Given the description of an element on the screen output the (x, y) to click on. 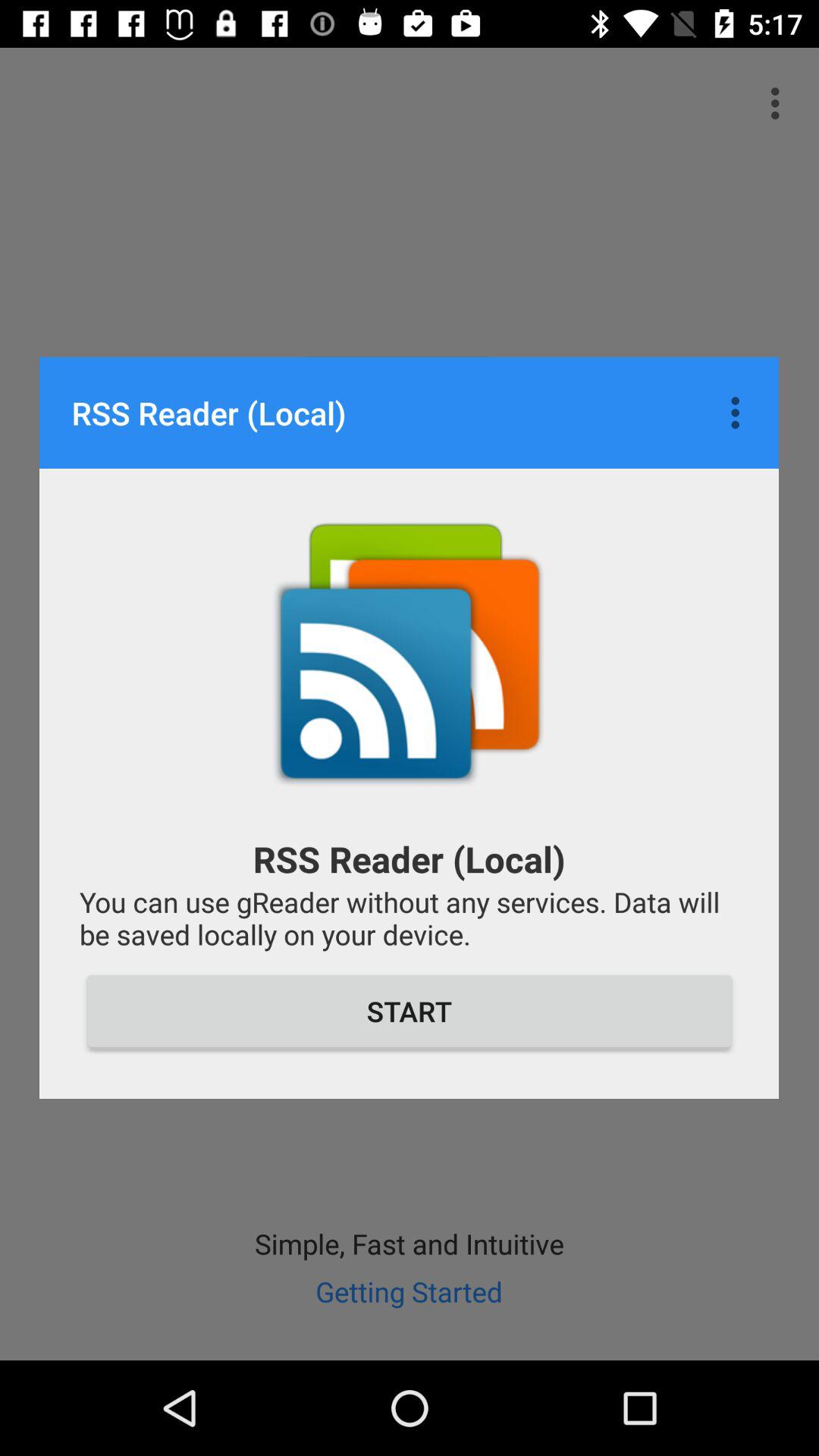
choose icon below you can use item (409, 1011)
